Given the description of an element on the screen output the (x, y) to click on. 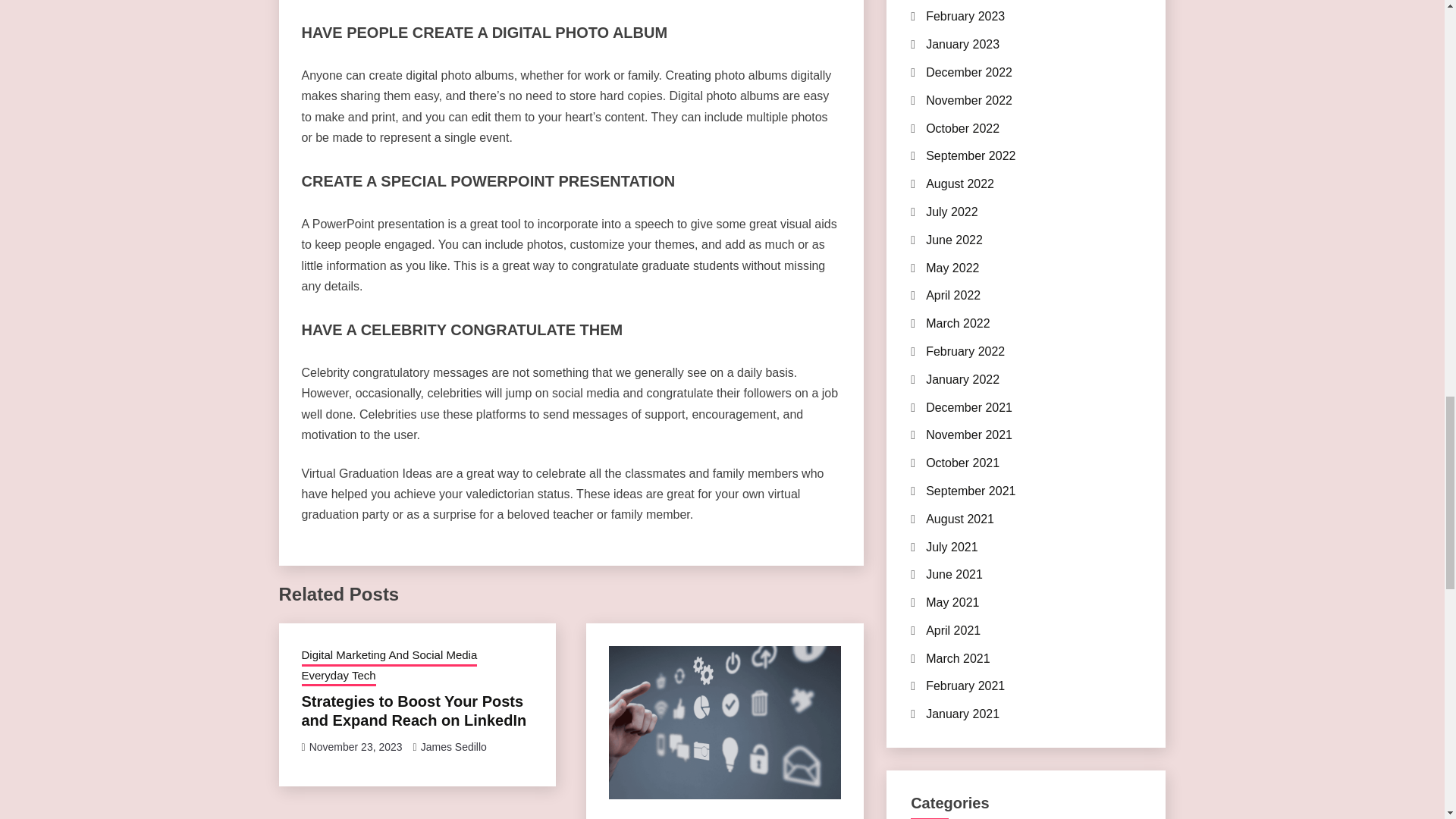
James Sedillo (453, 746)
Digital Marketing And Social Media (389, 656)
Everyday Tech (338, 677)
November 23, 2023 (355, 746)
Digital Marketing And Social Media (696, 816)
Strategies to Boost Your Posts and Expand Reach on LinkedIn (414, 710)
